Given the description of an element on the screen output the (x, y) to click on. 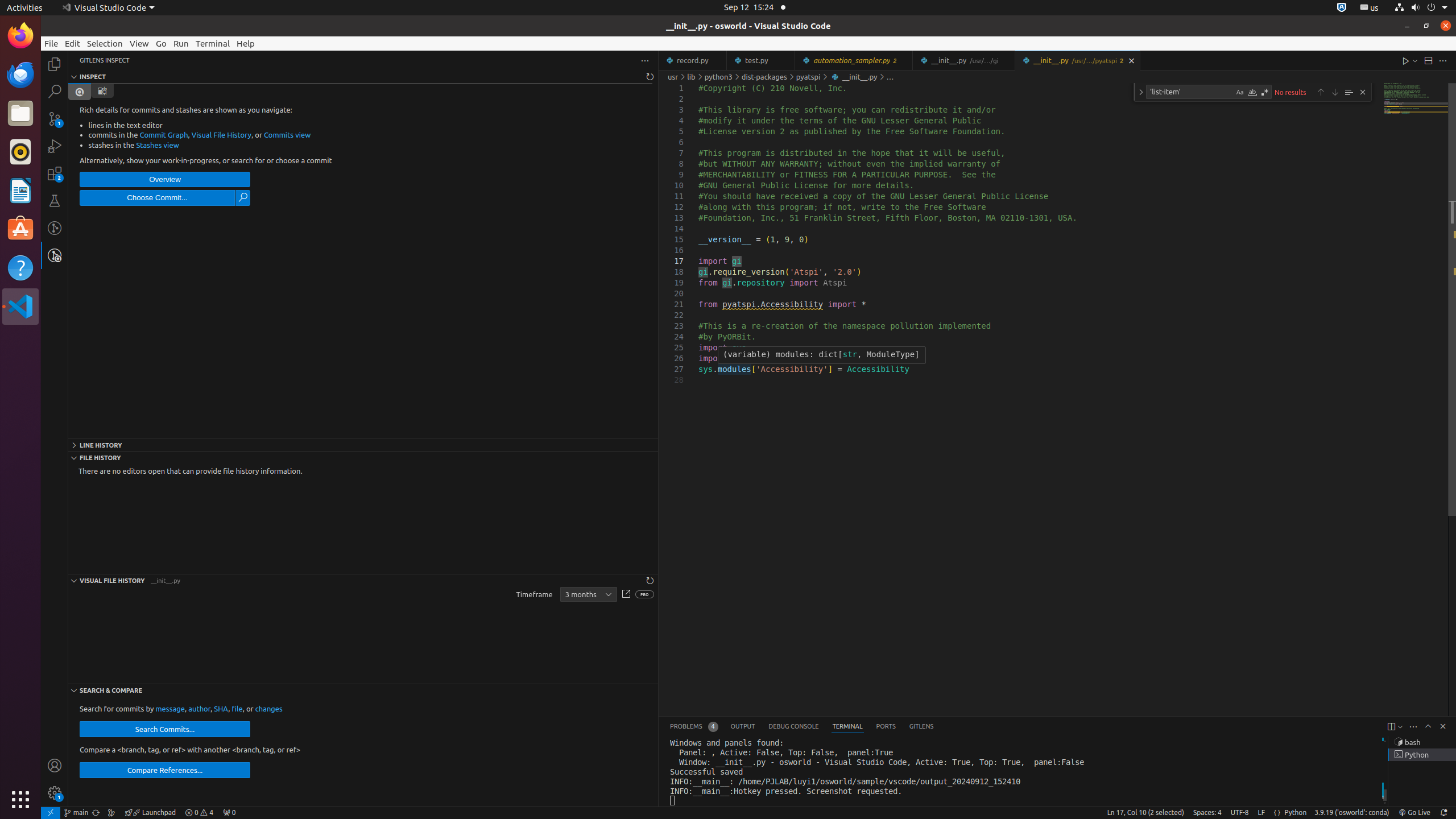
Find in Selection (Alt+L) Element type: check-box (1348, 91)
Active View Switcher Element type: page-tab-list (801, 726)
SHA Element type: push-button (220, 708)
Match Case (Alt+C) Element type: check-box (1239, 91)
